Given the description of an element on the screen output the (x, y) to click on. 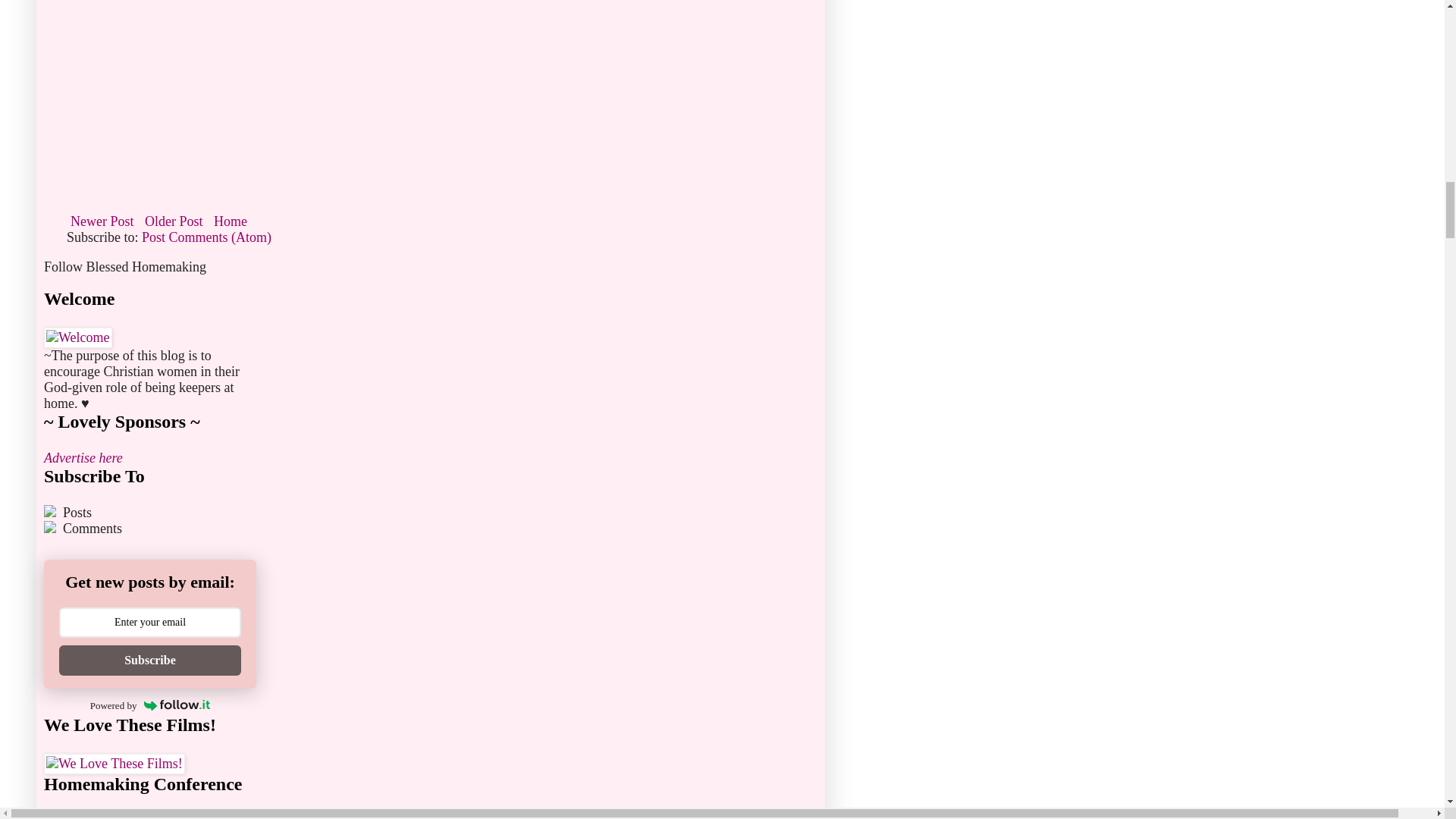
Older Post (173, 220)
Newer Post (102, 220)
